Given the description of an element on the screen output the (x, y) to click on. 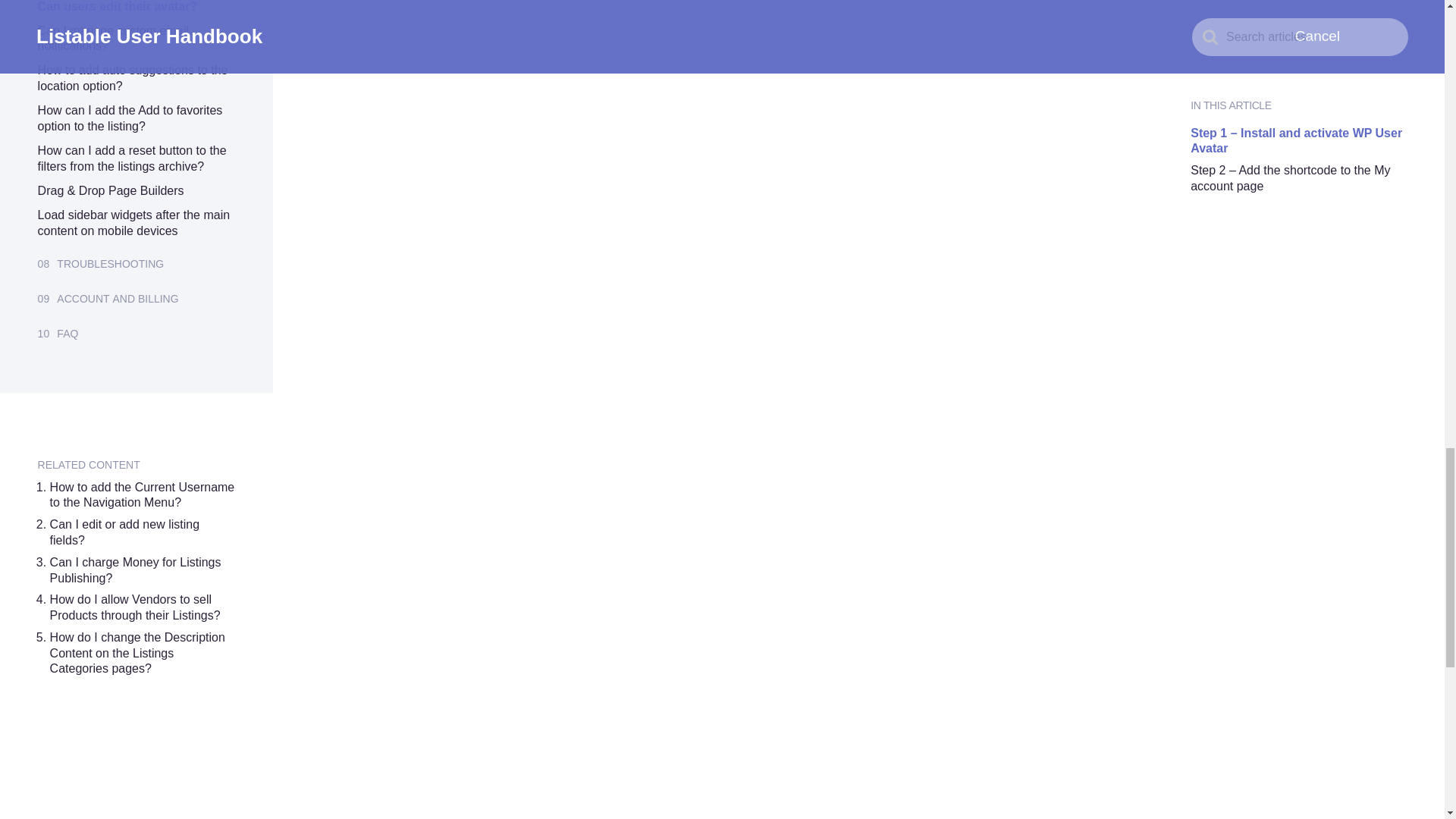
How to add the Current Username to the Navigation Menu? (141, 494)
Can I edit or add new listing fields? (124, 532)
Can I charge Money for Listings Publishing? (135, 570)
